Given the description of an element on the screen output the (x, y) to click on. 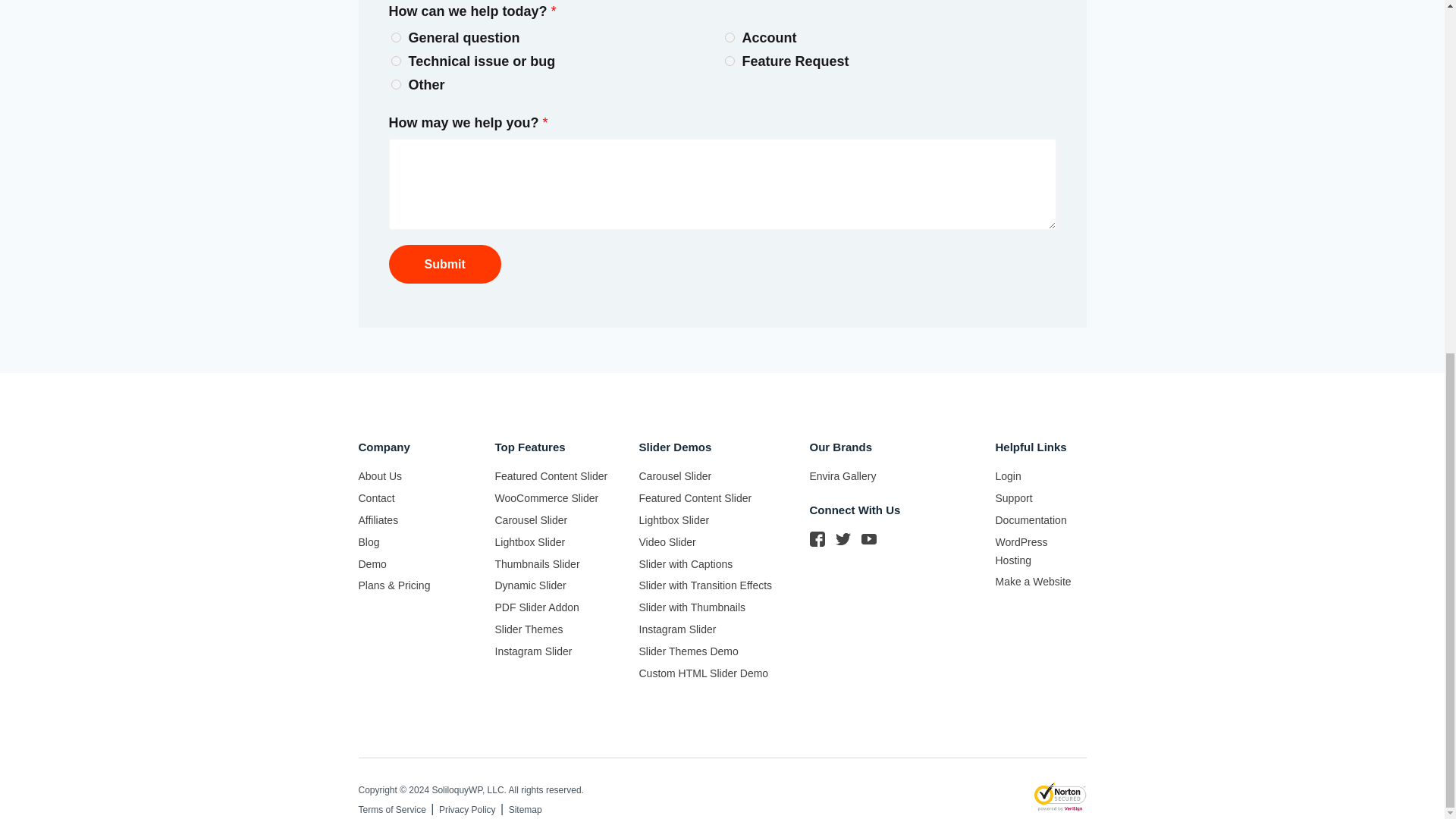
Facebook (817, 539)
Lightbox Slider (529, 541)
How to choose the best WordPress hosting (1020, 551)
PDF Slider Addon (536, 607)
Technical issue or bug (396, 61)
Submit (444, 263)
Contact (376, 498)
Carousel Slider (531, 520)
Other (396, 84)
Thumbnails Slider (537, 563)
